Given the description of an element on the screen output the (x, y) to click on. 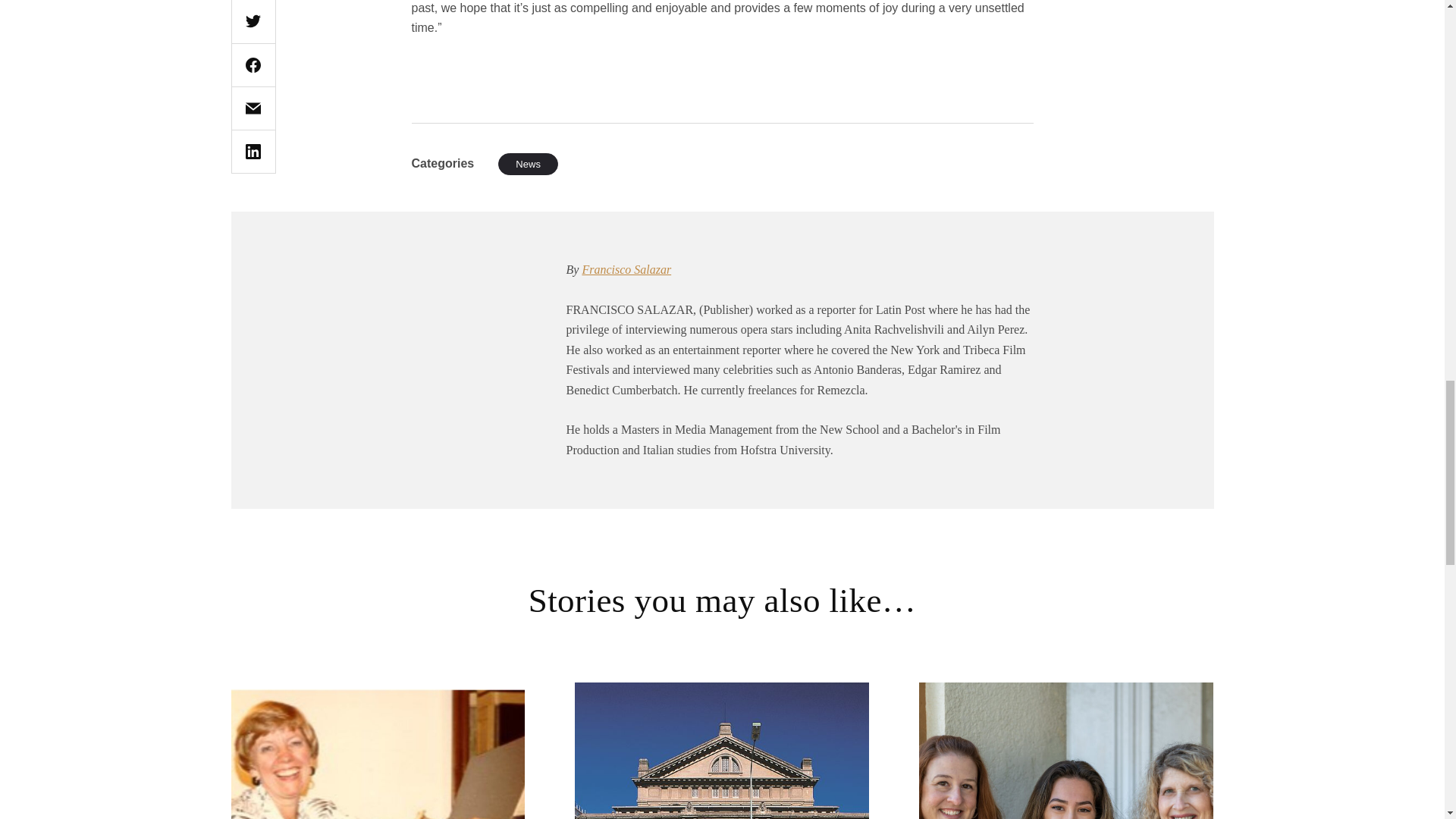
Permanent Link to Obituary: Elsa Charlston Passes Away at 91 (377, 750)
